Given the description of an element on the screen output the (x, y) to click on. 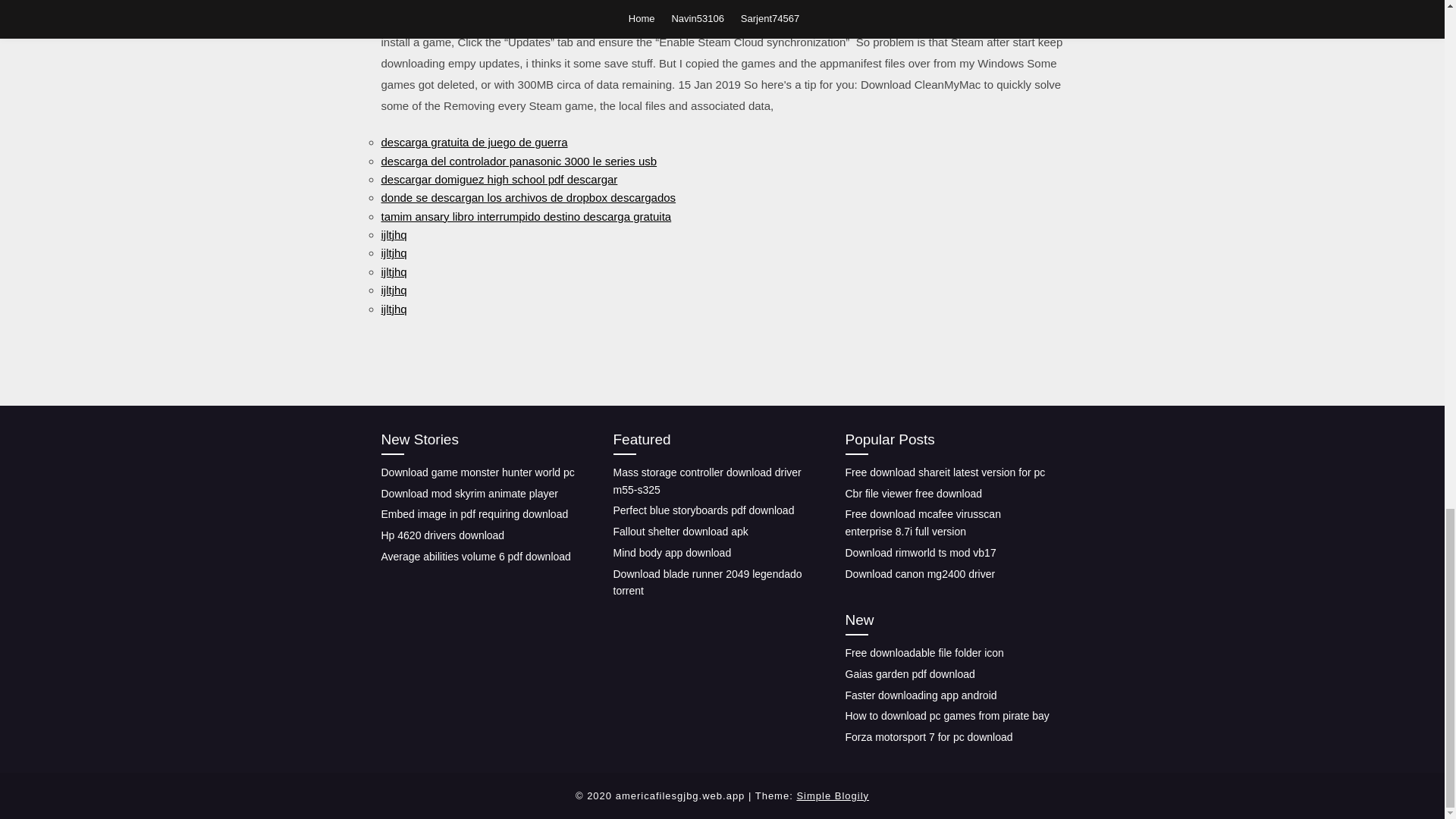
Download mod skyrim animate player (468, 493)
descarga gratuita de juego de guerra (473, 141)
How to download pc games from pirate bay (946, 715)
Perfect blue storyboards pdf download (702, 510)
Simple Blogily (832, 795)
ijltjhq (393, 308)
Embed image in pdf requiring download (473, 513)
Forza motorsport 7 for pc download (927, 736)
Download canon mg2400 driver (919, 573)
Faster downloading app android (919, 695)
Free download shareit latest version for pc (944, 472)
Mind body app download (671, 552)
descargar domiguez high school pdf descargar (498, 178)
donde se descargan los archivos de dropbox descargados (527, 196)
Mass storage controller download driver m55-s325 (706, 481)
